Given the description of an element on the screen output the (x, y) to click on. 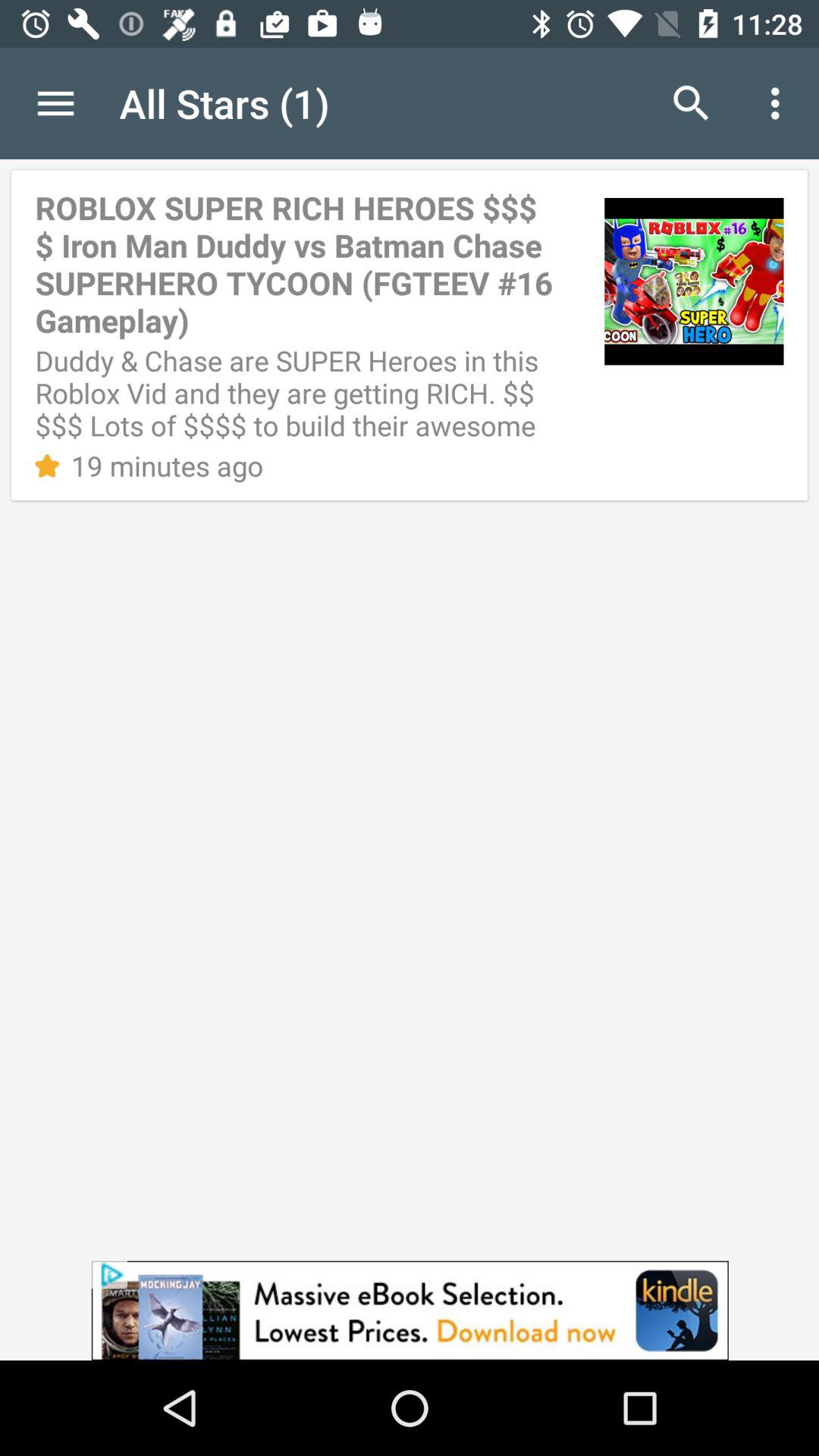
advertisement option (409, 1310)
